Given the description of an element on the screen output the (x, y) to click on. 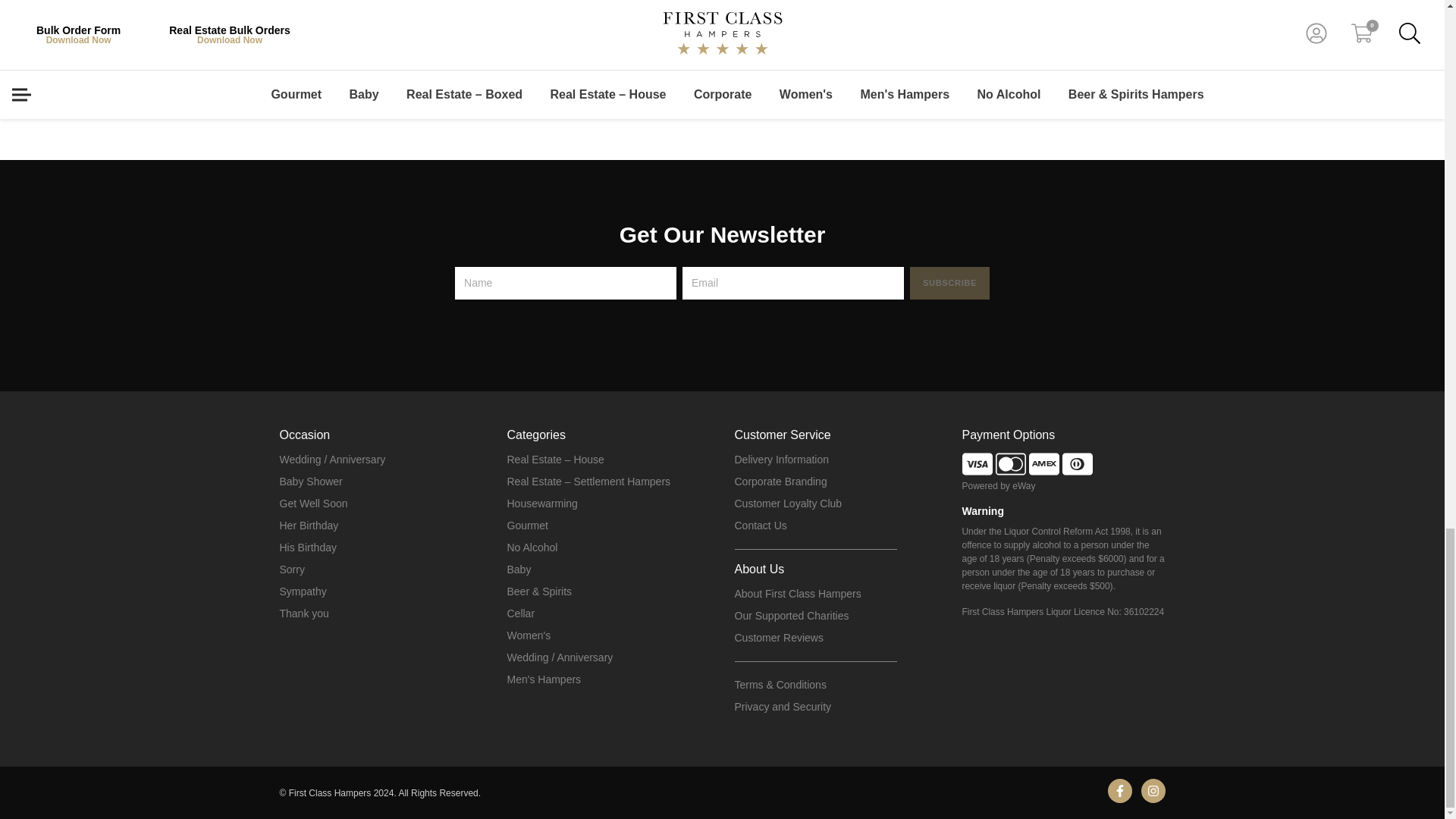
Housewarming (541, 503)
Her Birthday (308, 525)
His Birthday (307, 547)
Baby Shower (310, 481)
Get Well Soon (313, 503)
Sympathy (302, 591)
Sorry (291, 569)
Thank you (304, 613)
